Given the description of an element on the screen output the (x, y) to click on. 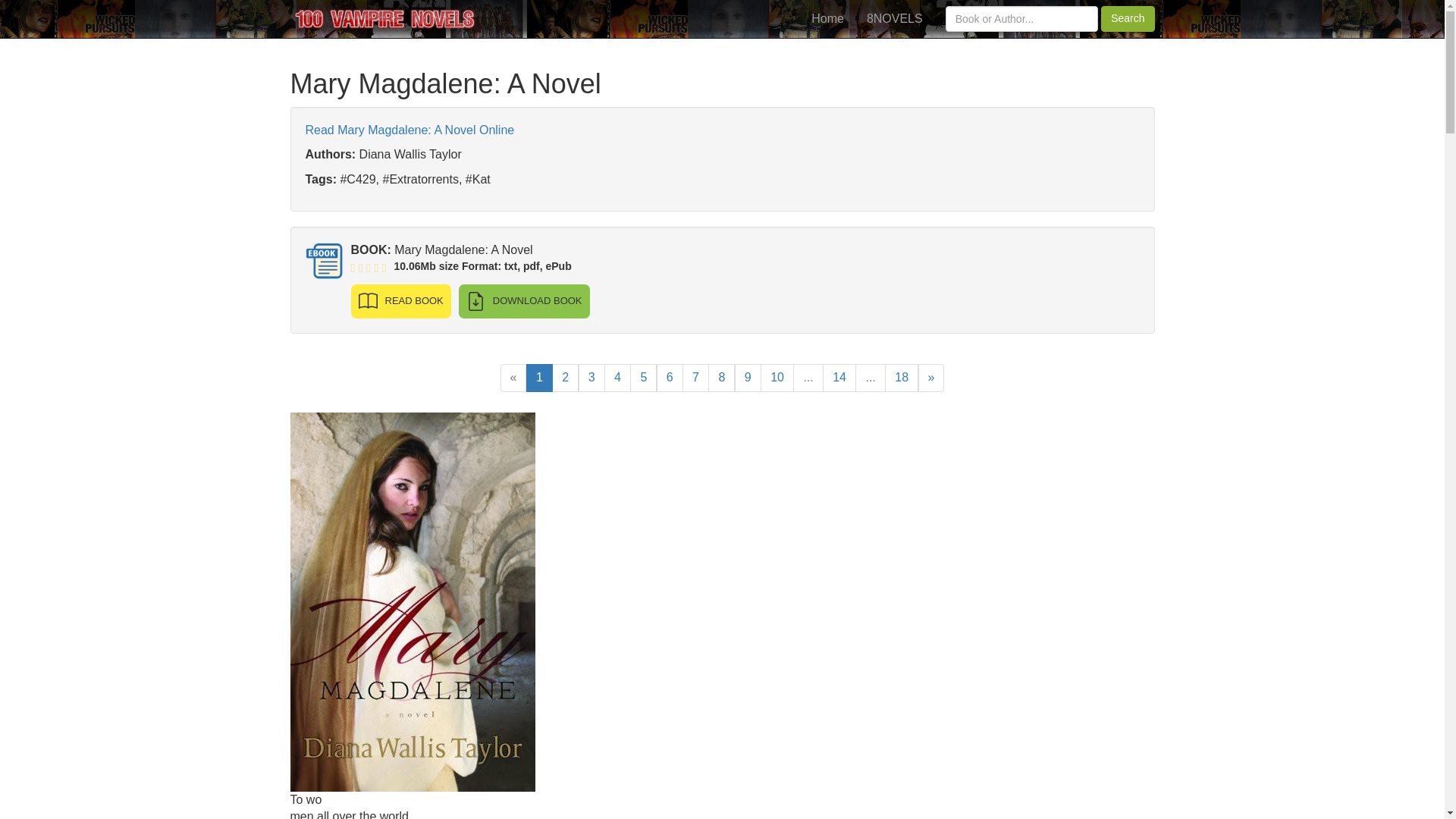
8NOVELS (895, 18)
9 (748, 377)
2 (564, 377)
18 (901, 377)
Read Mary Magdalene: A Novel Online (408, 129)
Search (1127, 18)
READ BOOK (399, 301)
Home (827, 18)
4 (617, 377)
DOWNLOAD BOOK (523, 301)
